Given the description of an element on the screen output the (x, y) to click on. 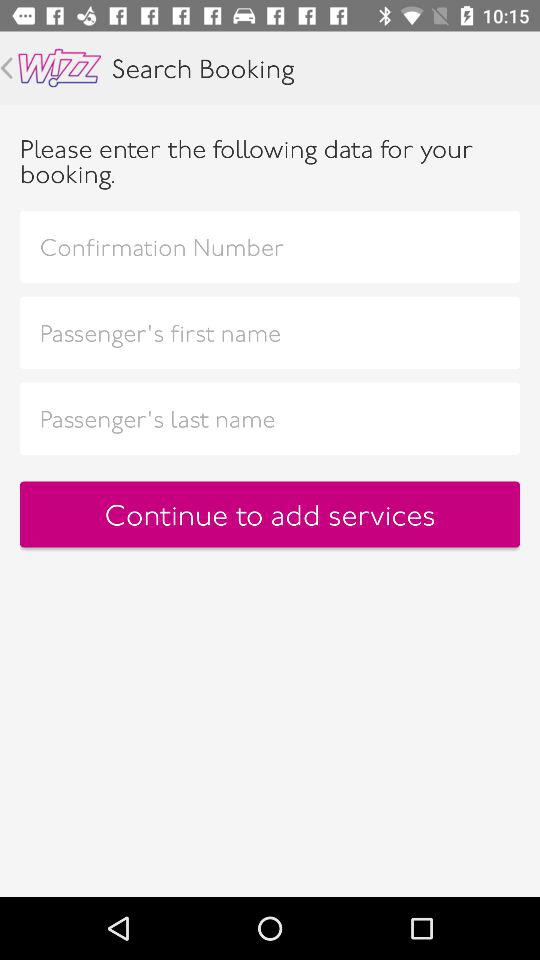
home (59, 68)
